Given the description of an element on the screen output the (x, y) to click on. 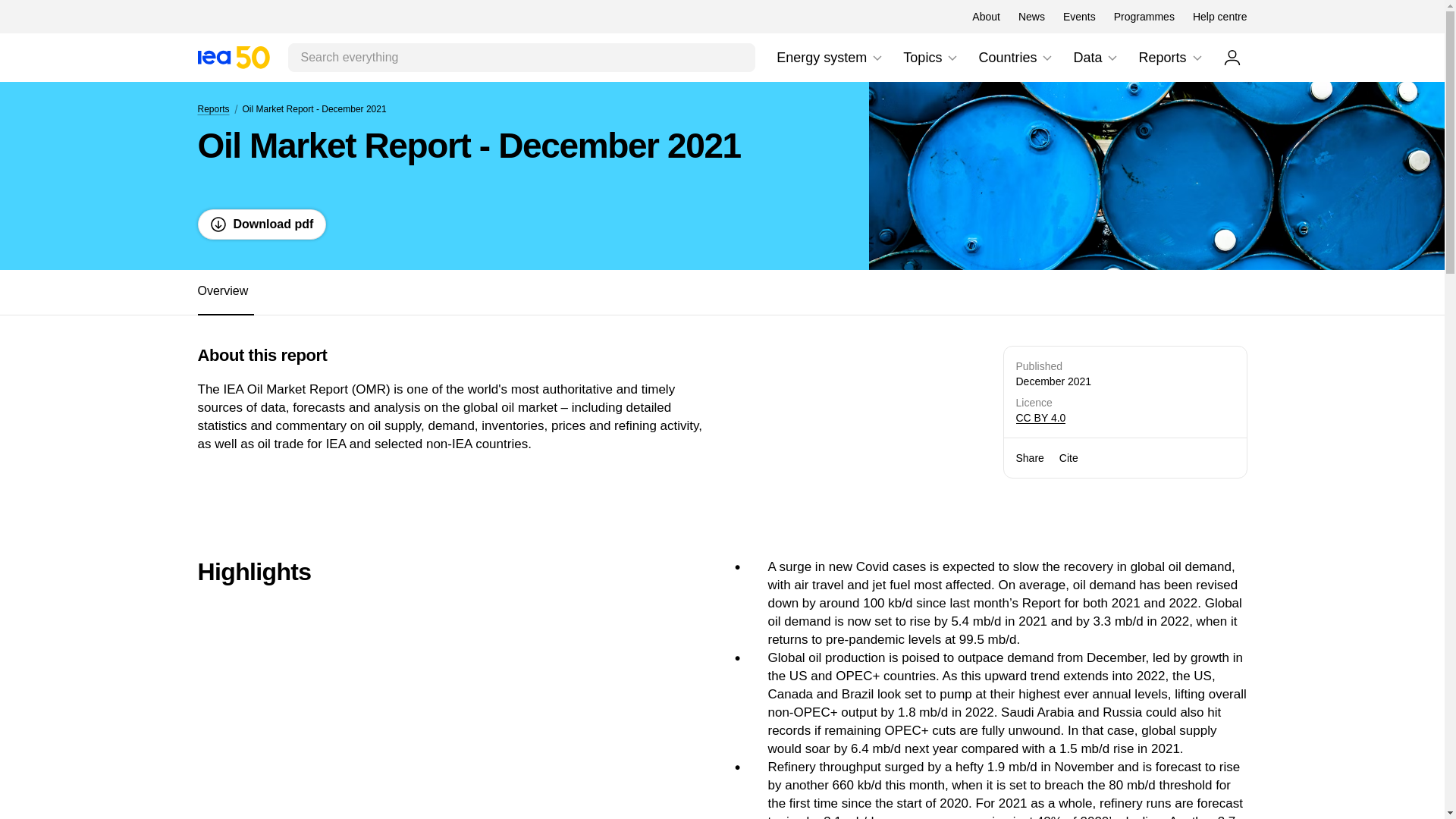
Chevron down (877, 57)
Chevron down (1046, 57)
User Profile (1231, 57)
Events (1079, 16)
IEA (232, 56)
Chevron down (951, 57)
Programmes (1143, 16)
Chevron down (830, 57)
Overview (1196, 57)
About (721, 292)
IEA (986, 16)
Help centre (232, 56)
News (931, 57)
